Given the description of an element on the screen output the (x, y) to click on. 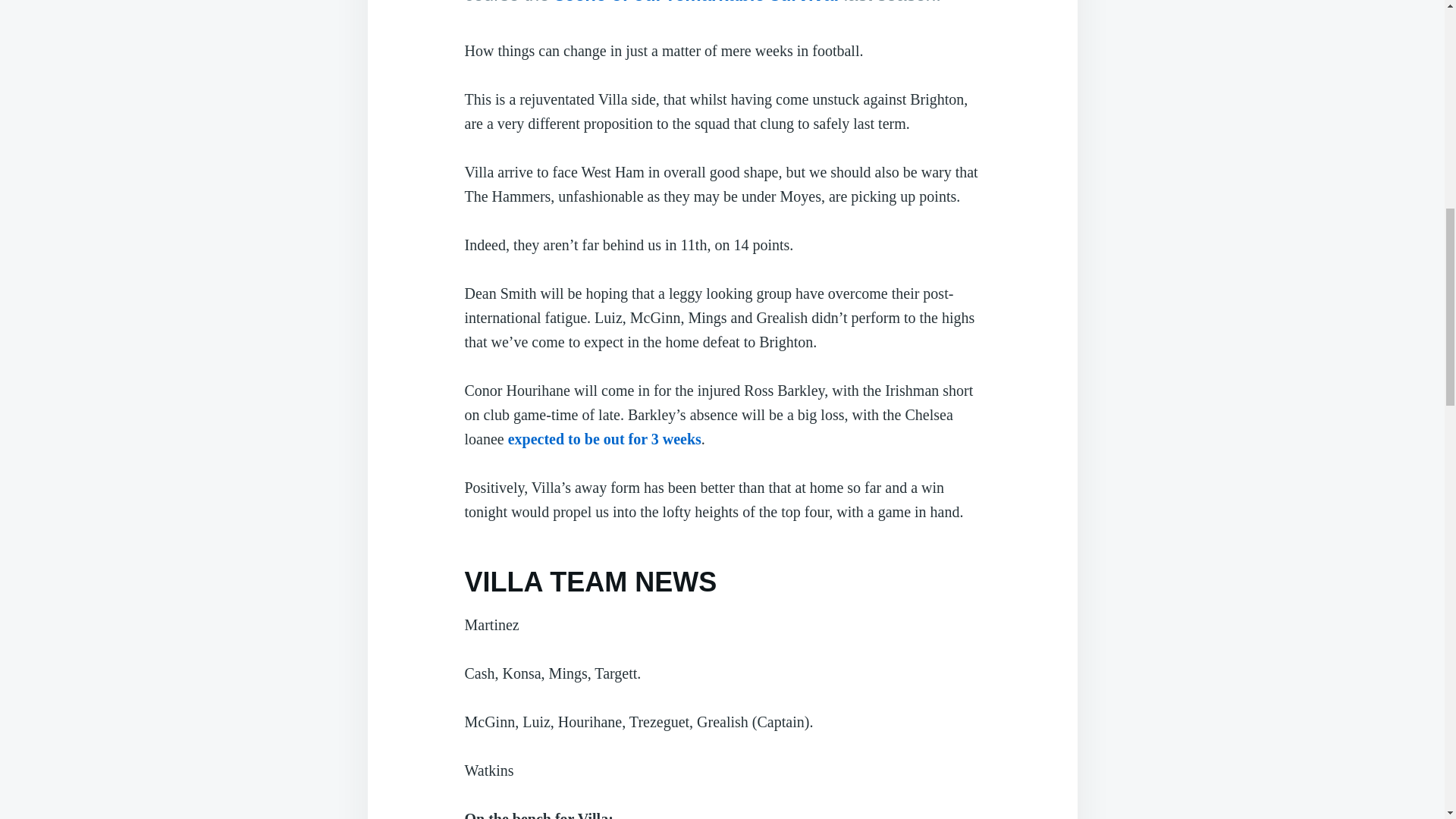
scene of our remarkable survival (696, 2)
expected to be out for 3 weeks (604, 438)
